Given the description of an element on the screen output the (x, y) to click on. 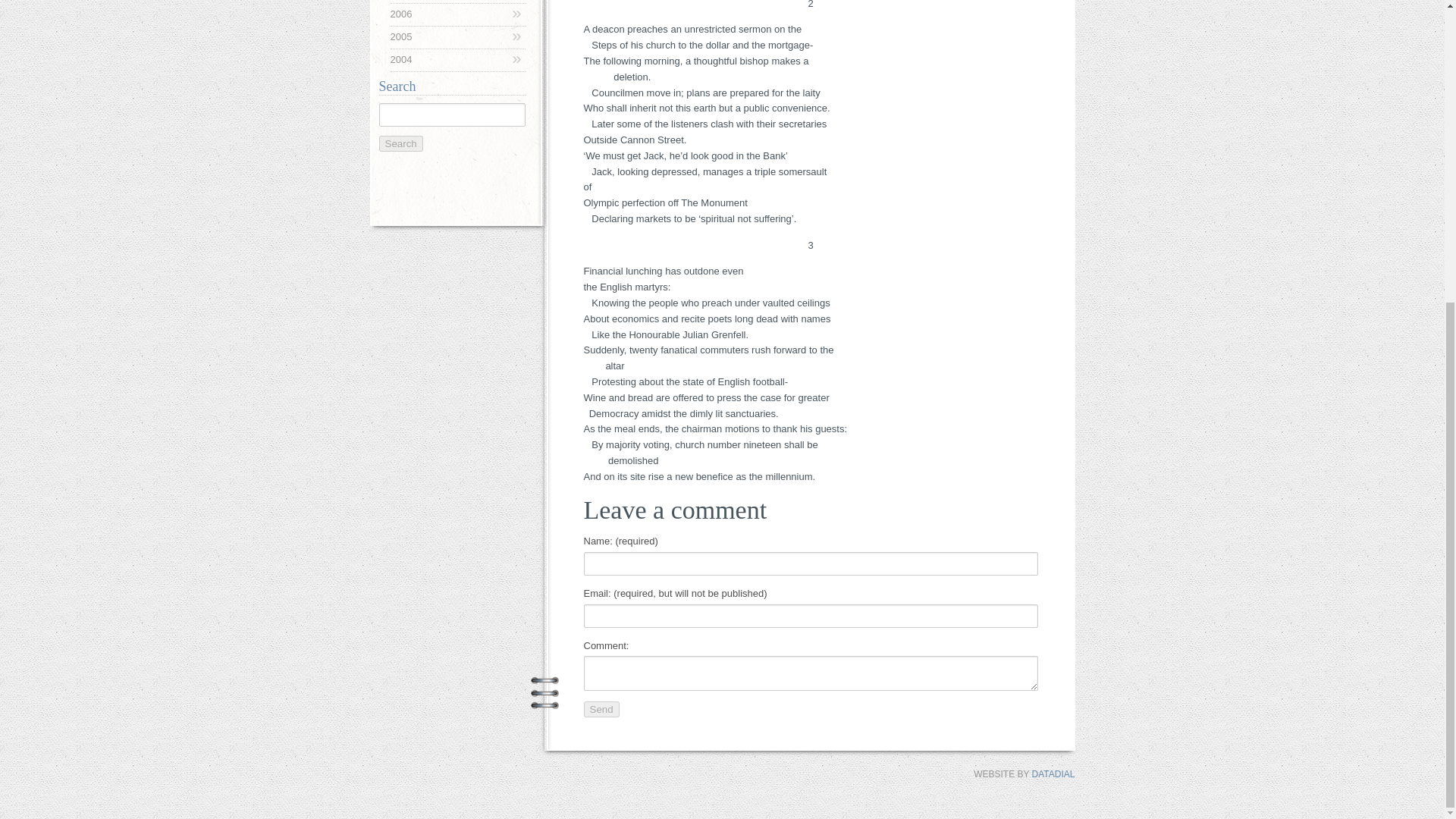
DATADIAL (1053, 774)
2005 (457, 37)
2004 (457, 59)
Send (601, 709)
2006 (457, 14)
Send (601, 709)
Search (400, 143)
Search (400, 143)
